Given the description of an element on the screen output the (x, y) to click on. 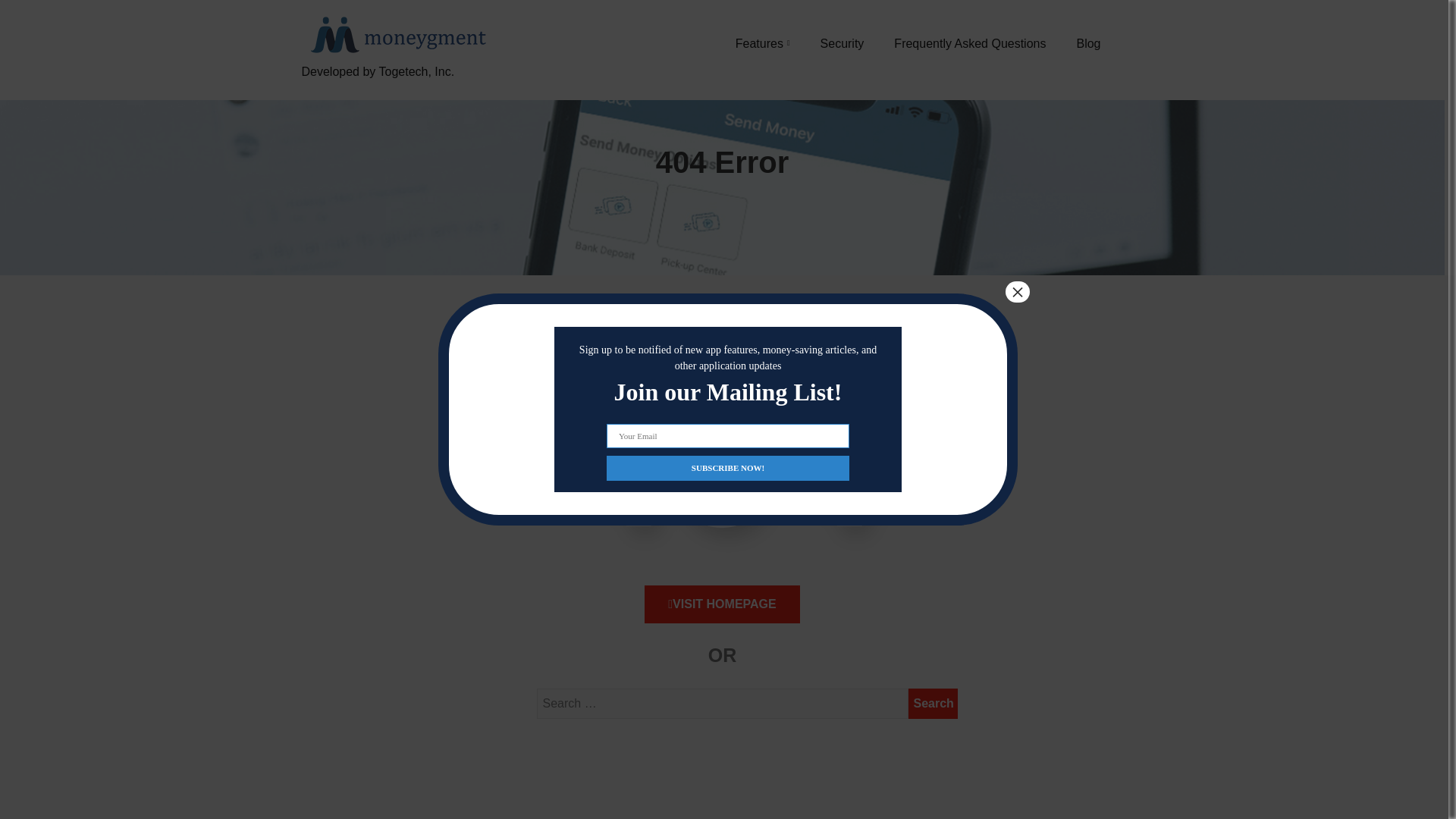
Frequently Asked Questions (969, 43)
VISIT HOMEPAGE (722, 604)
SUBSCRIBE NOW! (727, 467)
Search (933, 703)
Developed by Togetech, Inc. (396, 89)
Search (933, 703)
Security (842, 43)
SUBSCRIBE NOW! (727, 467)
Search (933, 703)
Features (762, 43)
